Given the description of an element on the screen output the (x, y) to click on. 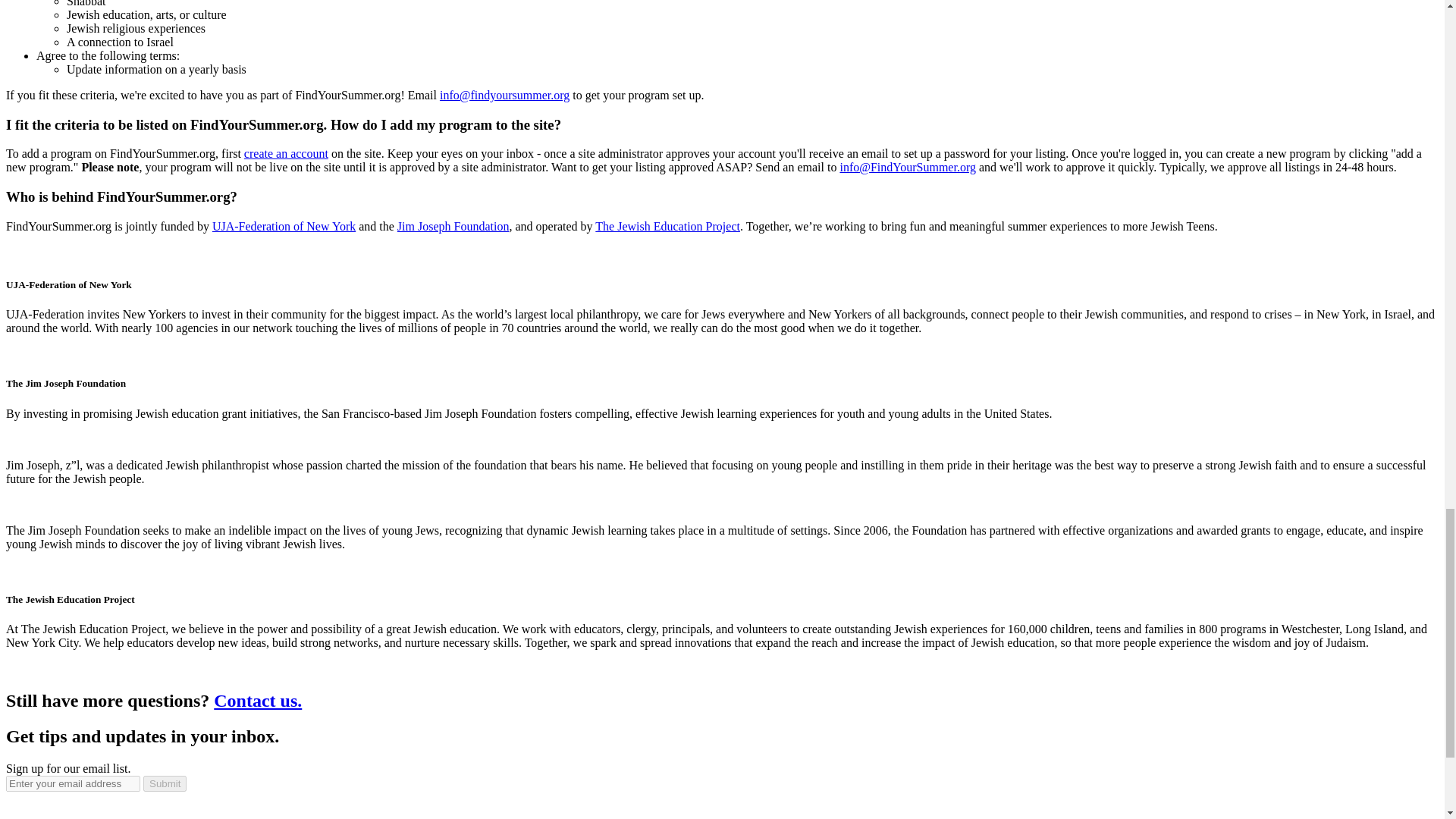
Submit (164, 783)
